Given the description of an element on the screen output the (x, y) to click on. 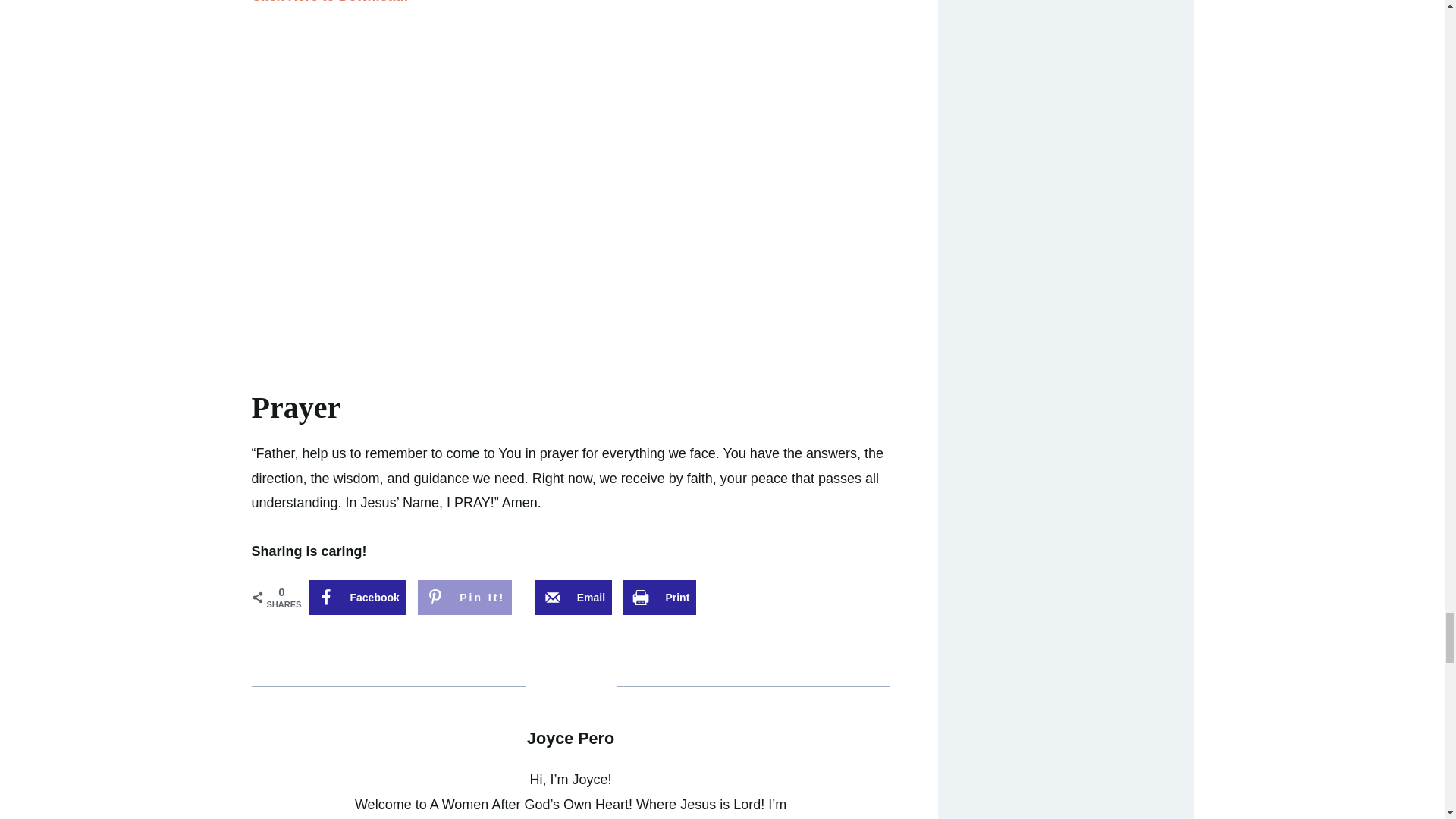
Save to Pinterest (464, 597)
Posts by Joyce Pero (570, 737)
Share on Facebook (356, 597)
Send over email (573, 597)
Print this webpage (659, 597)
